Given the description of an element on the screen output the (x, y) to click on. 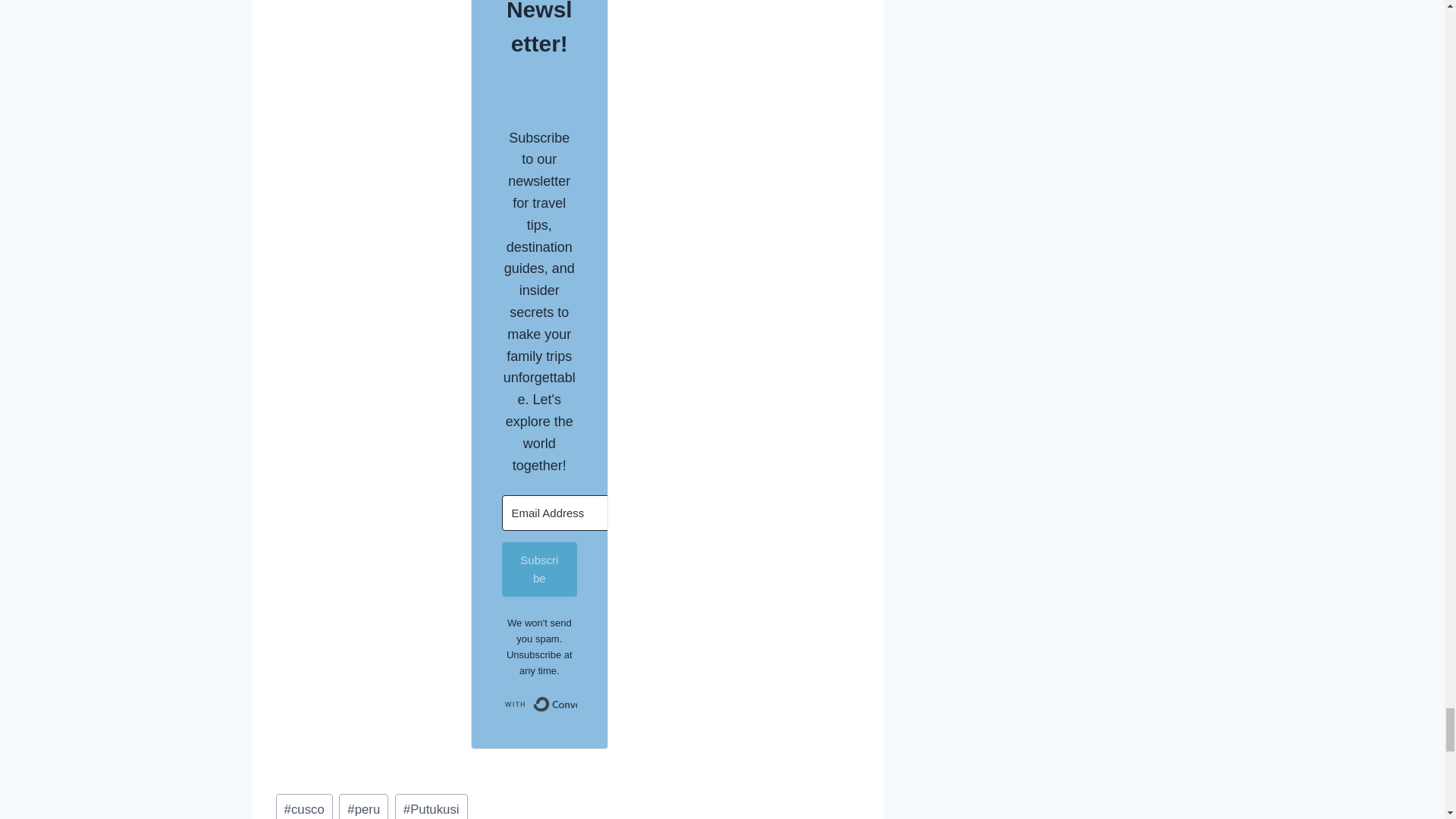
Putukusi (430, 806)
cusco (304, 806)
peru (363, 806)
